Given the description of an element on the screen output the (x, y) to click on. 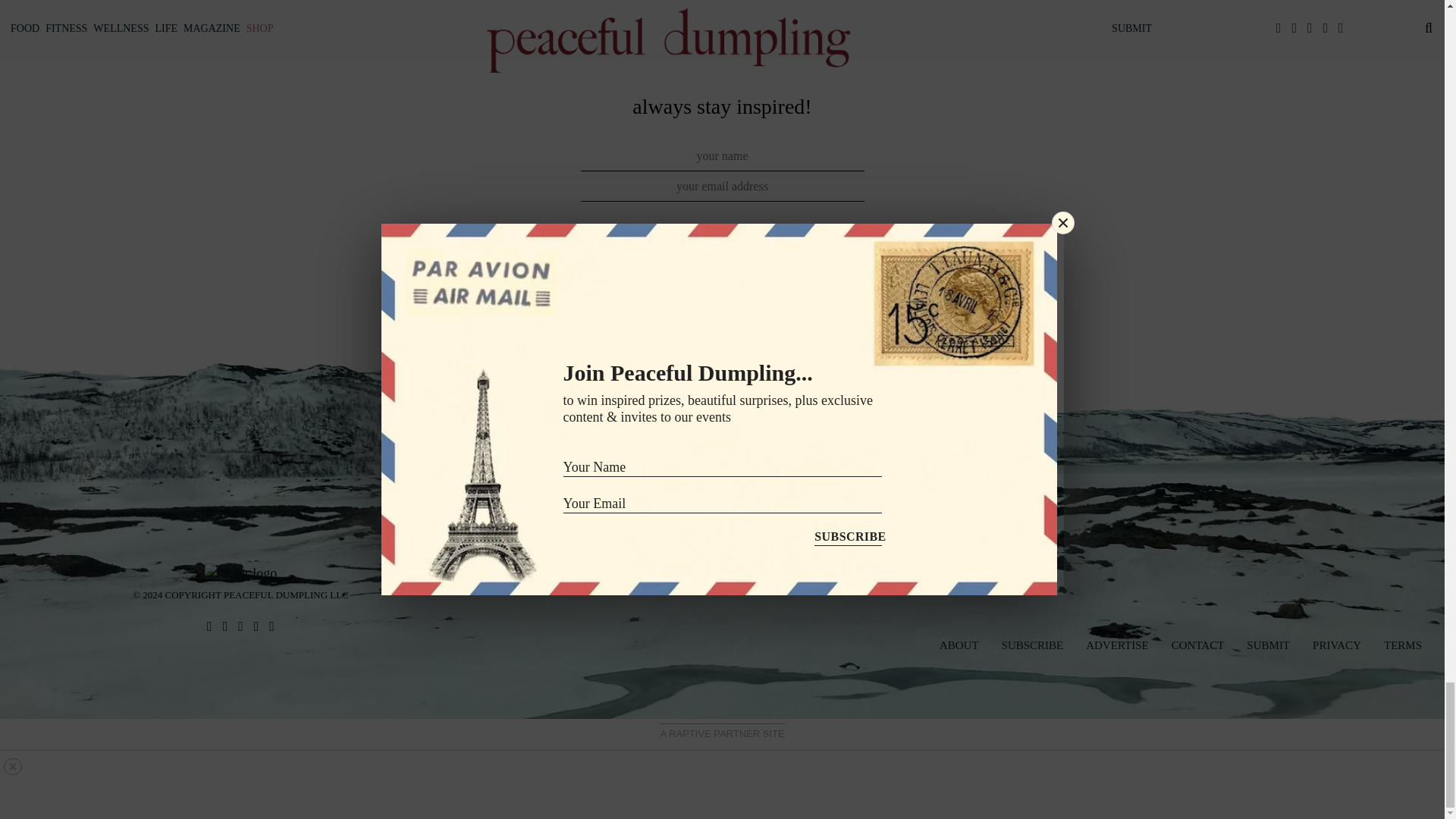
1 (581, 244)
Subscribe! (721, 293)
Peaceful Dumpling (240, 572)
